Given the description of an element on the screen output the (x, y) to click on. 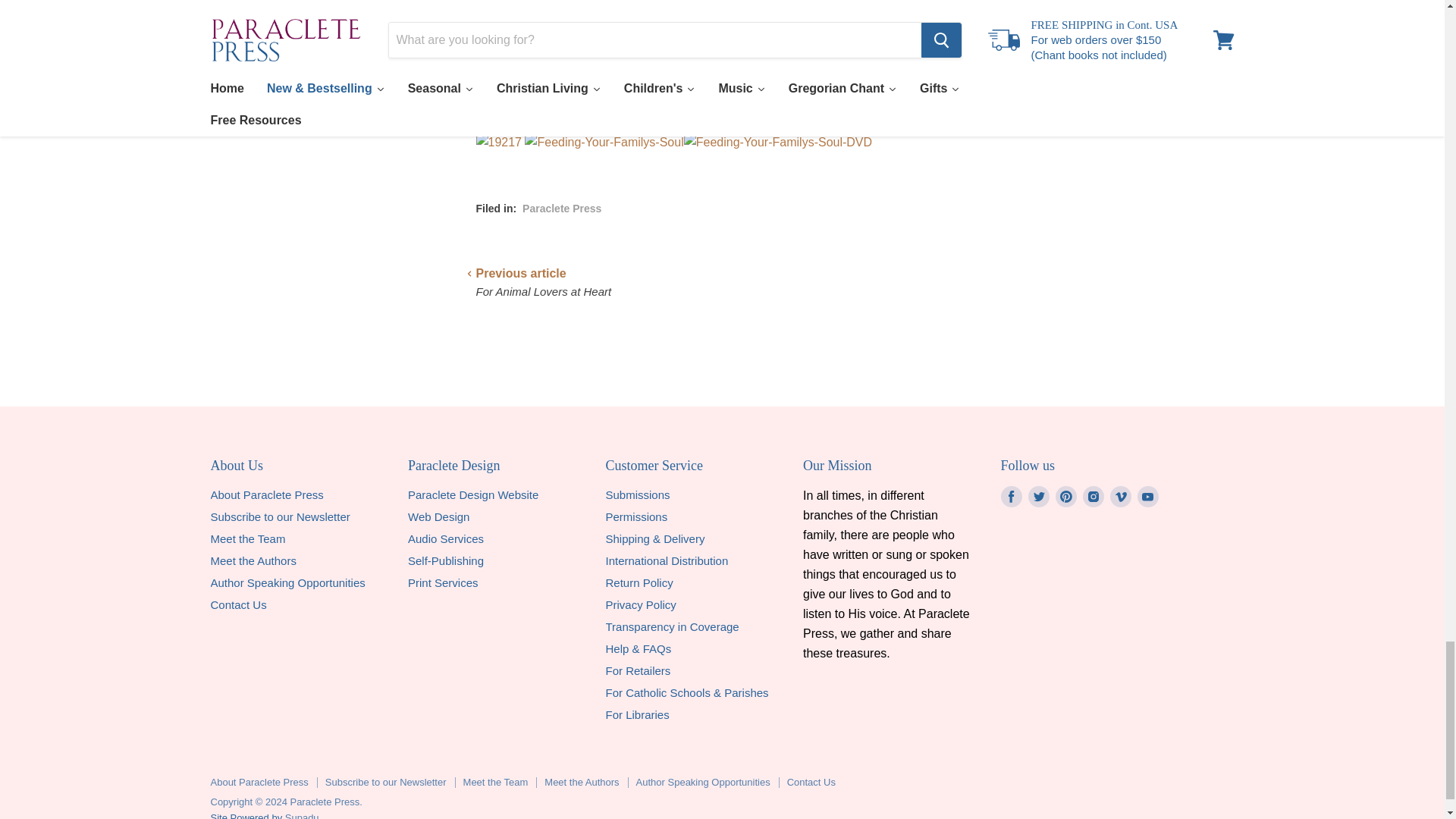
Pinterest (1066, 496)
Show articles tagged Paraclete Press (561, 208)
Twitter (1038, 496)
Facebook (1011, 496)
Instagram (1093, 496)
